Given the description of an element on the screen output the (x, y) to click on. 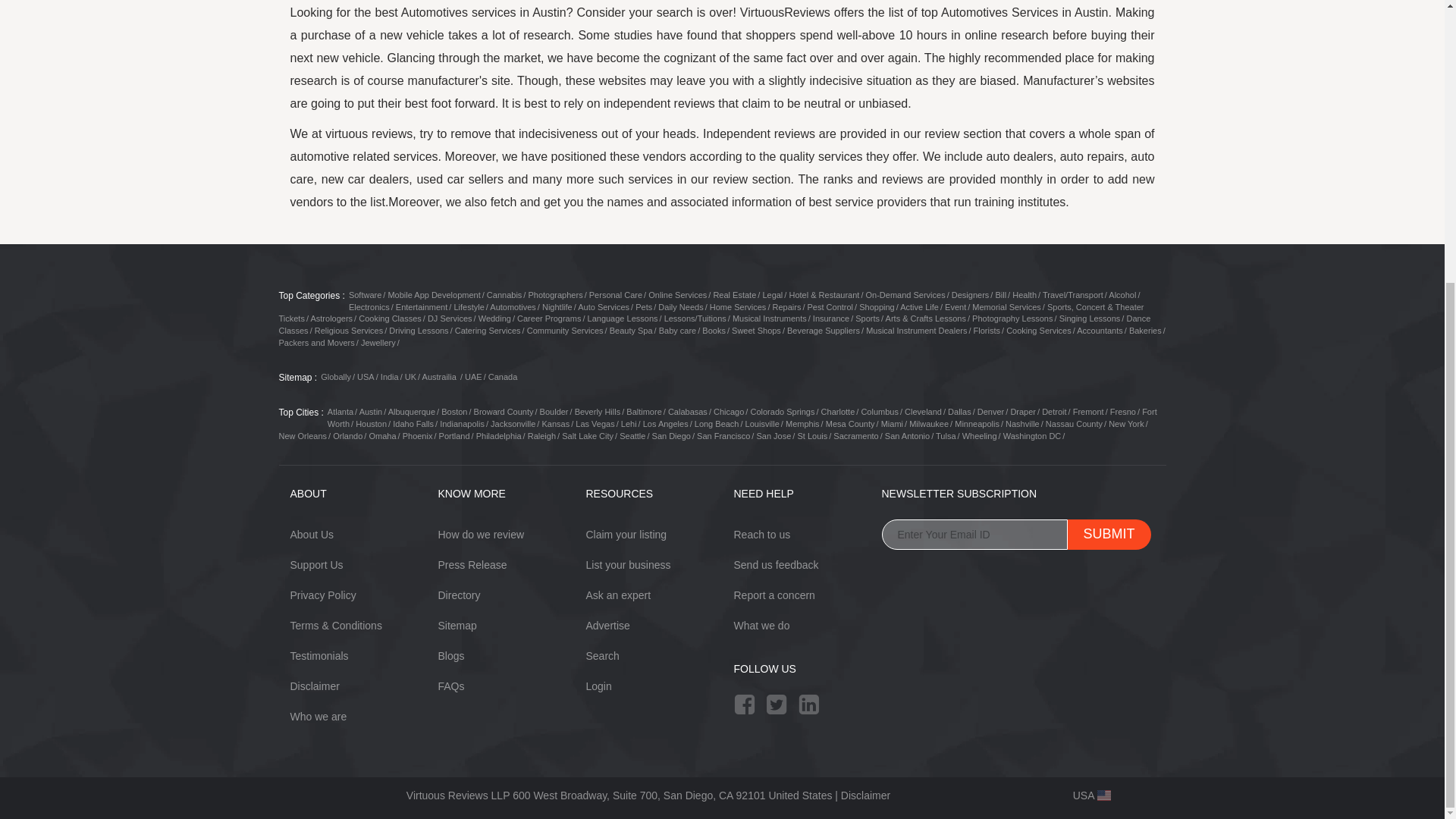
What we do (761, 625)
Who we are (317, 716)
